Given the description of an element on the screen output the (x, y) to click on. 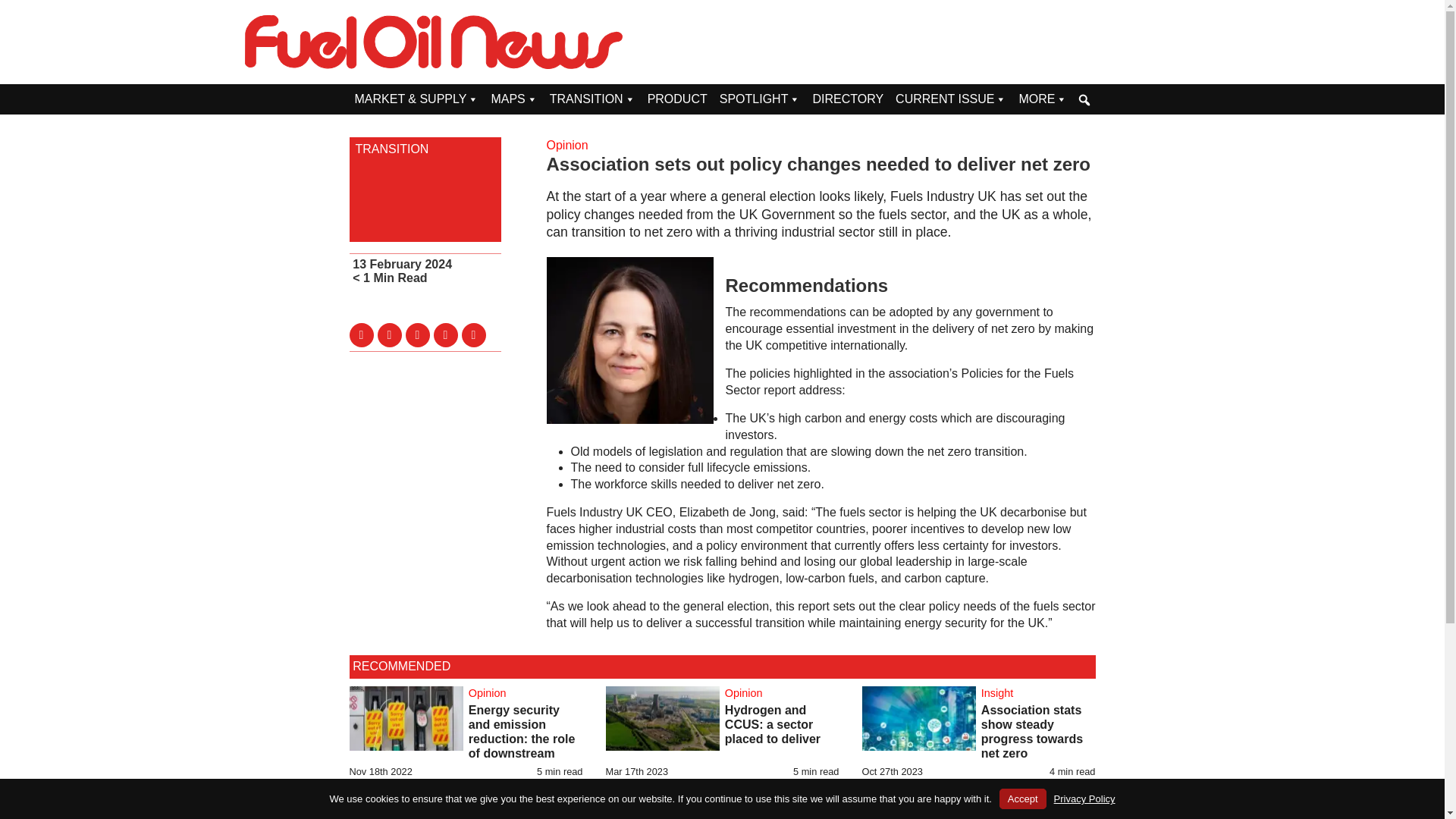
Share on WhatsApp (472, 334)
link to home page (433, 41)
Share on Twitter (360, 334)
Hydrogen and CCUS: a sector placed to deliver (773, 724)
Share on LinkedIn (416, 334)
SPOTLIGHT (759, 99)
Search (11, 9)
CURRENT ISSUE (950, 99)
